Given the description of an element on the screen output the (x, y) to click on. 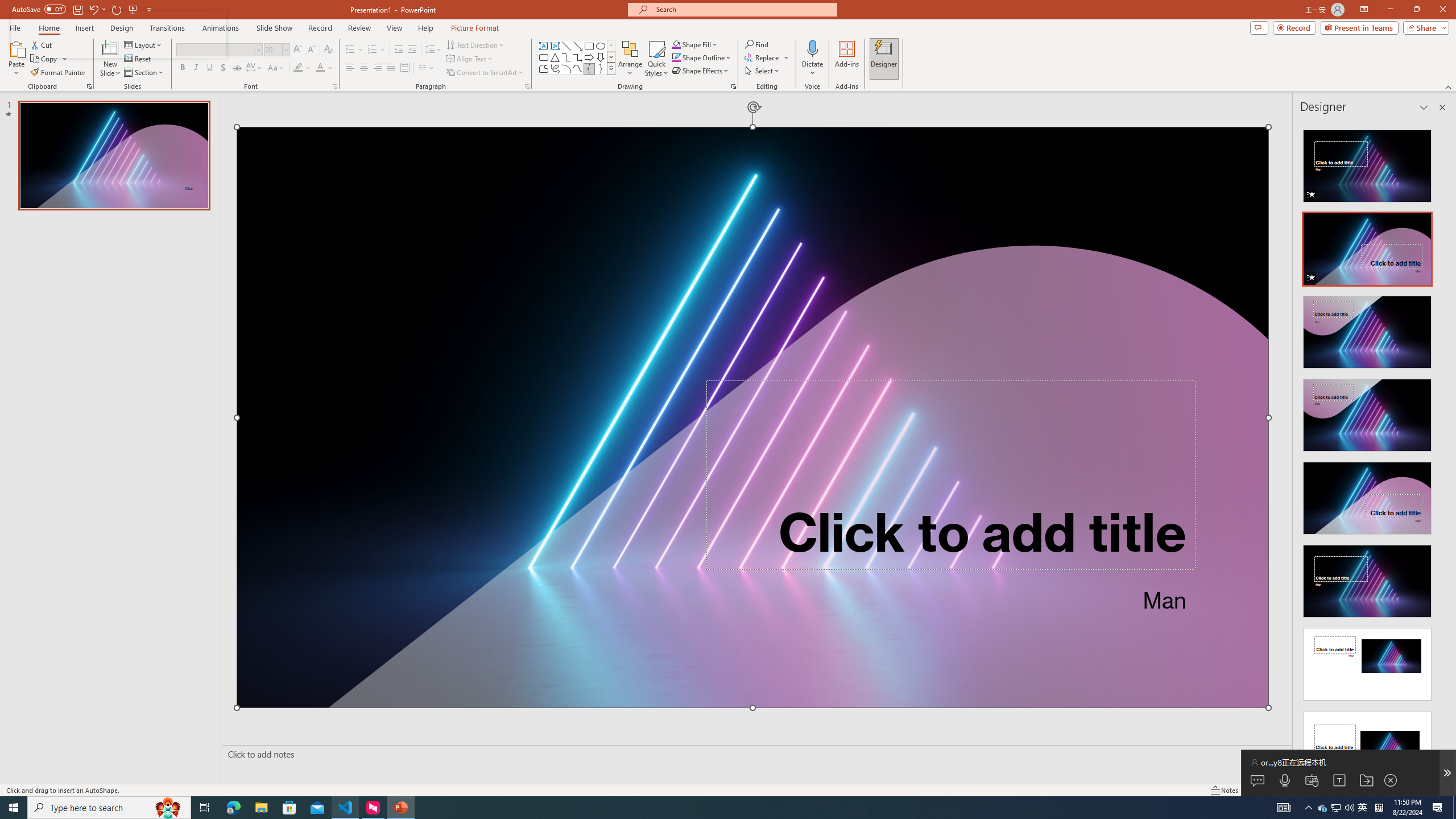
Cut (42, 44)
Row Down (611, 56)
Help (425, 28)
Dictate (812, 48)
Format Object... (733, 85)
Font... (334, 85)
Task Pane Options (1423, 107)
Animations (220, 28)
AutoSave (38, 9)
Layout (143, 44)
Share (1423, 27)
Freeform: Shape (543, 68)
Increase Font Size (297, 49)
